Given the description of an element on the screen output the (x, y) to click on. 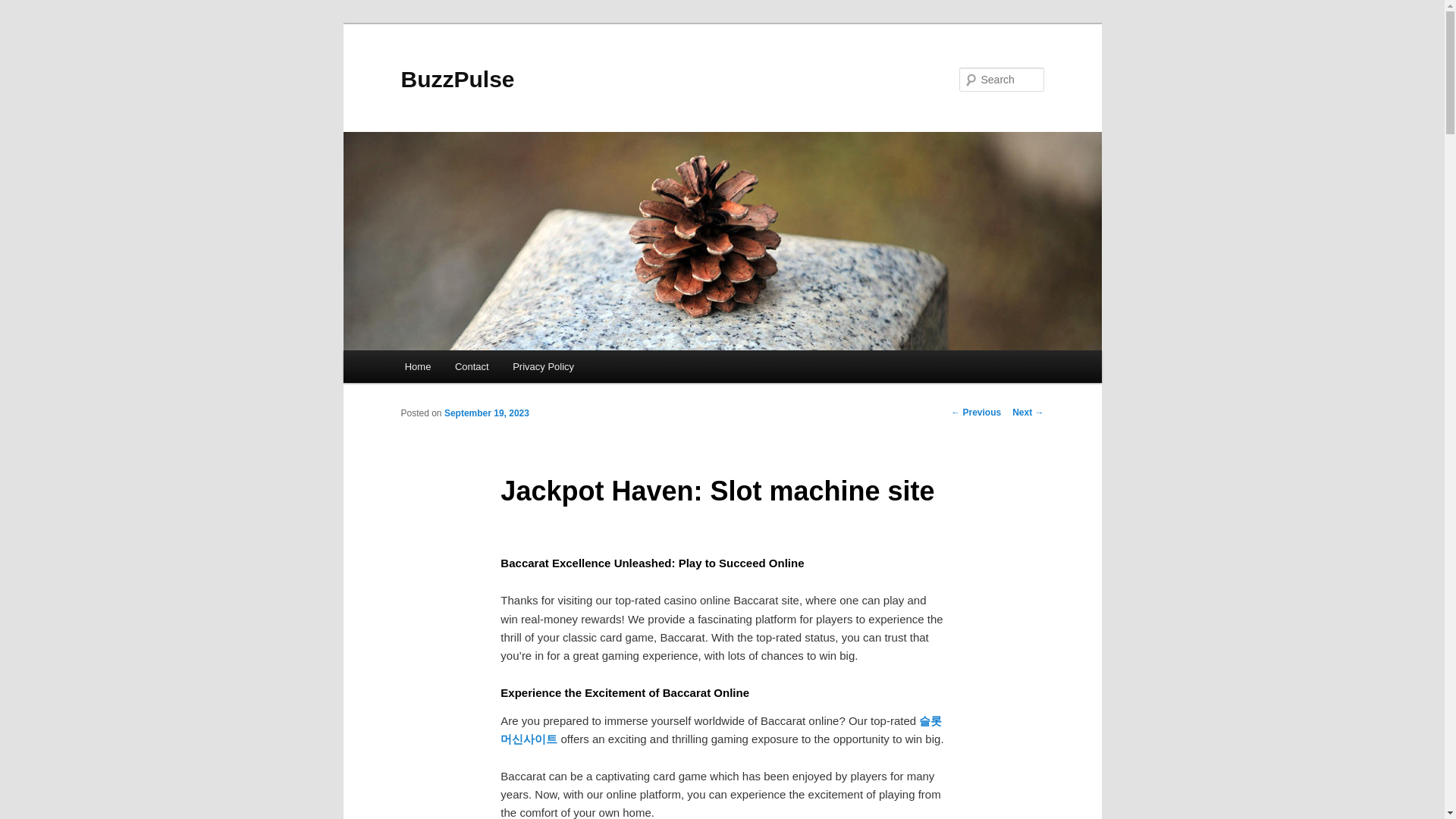
September 19, 2023 (486, 412)
Privacy Policy (542, 366)
10:43 pm (486, 412)
Contact (471, 366)
BuzzPulse (456, 78)
Home (417, 366)
Search (24, 8)
